Given the description of an element on the screen output the (x, y) to click on. 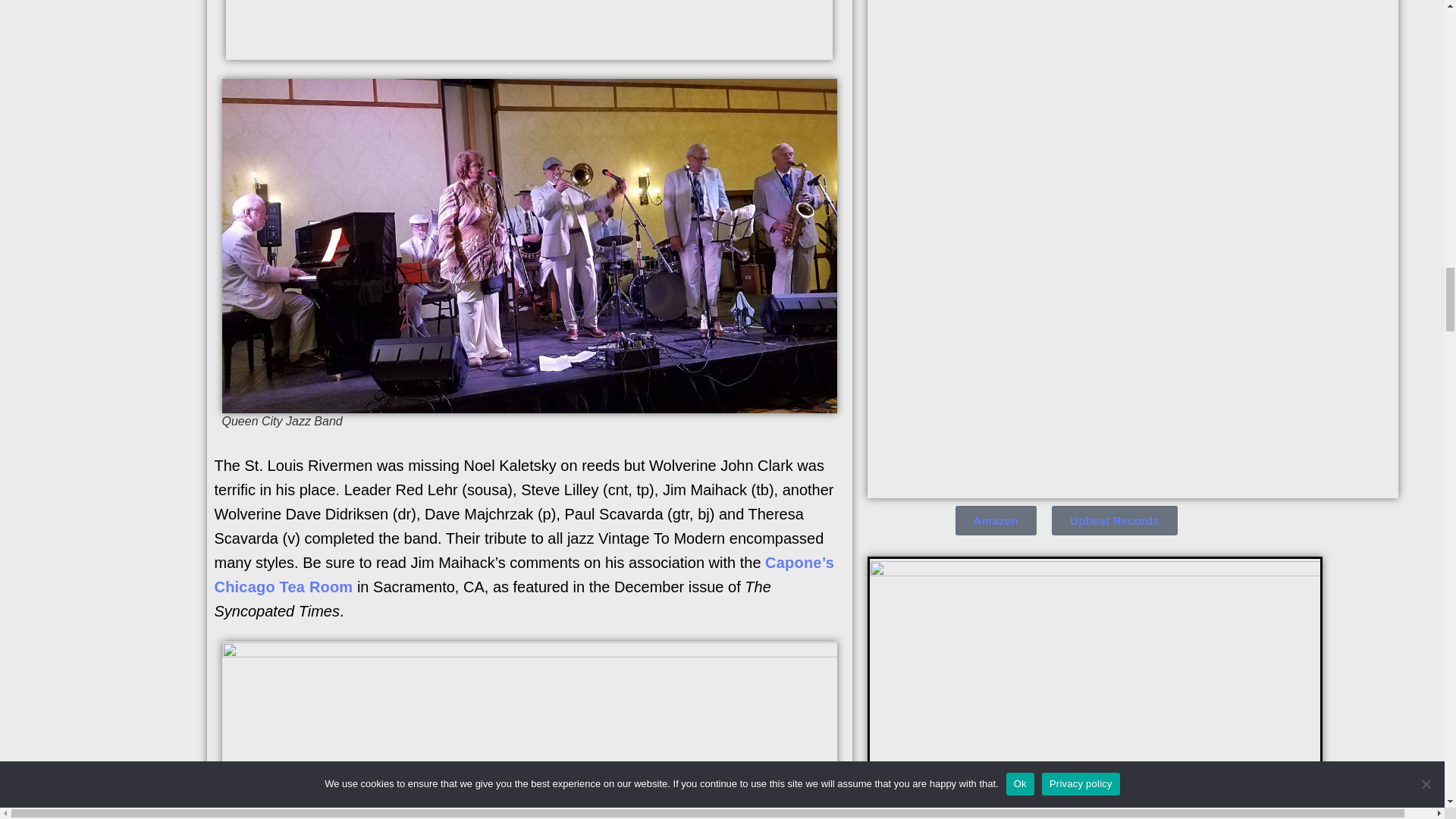
Evergreen (528, 29)
